Given the description of an element on the screen output the (x, y) to click on. 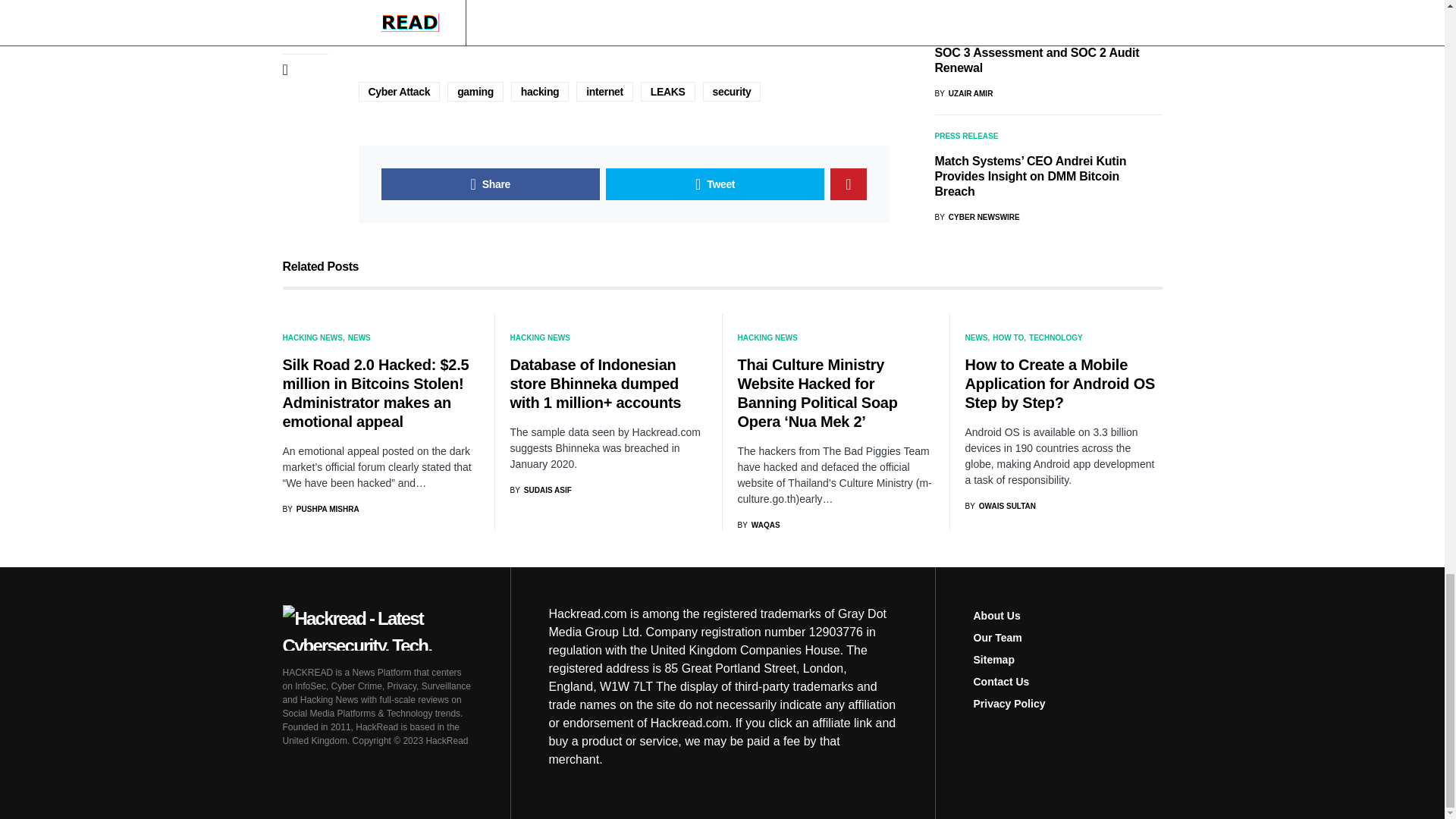
View all posts by Pushpa Mishra (320, 509)
View all posts by Sudais Asif (539, 490)
View all posts by Waqas (757, 524)
View all posts by Owais Sultan (999, 505)
